Given the description of an element on the screen output the (x, y) to click on. 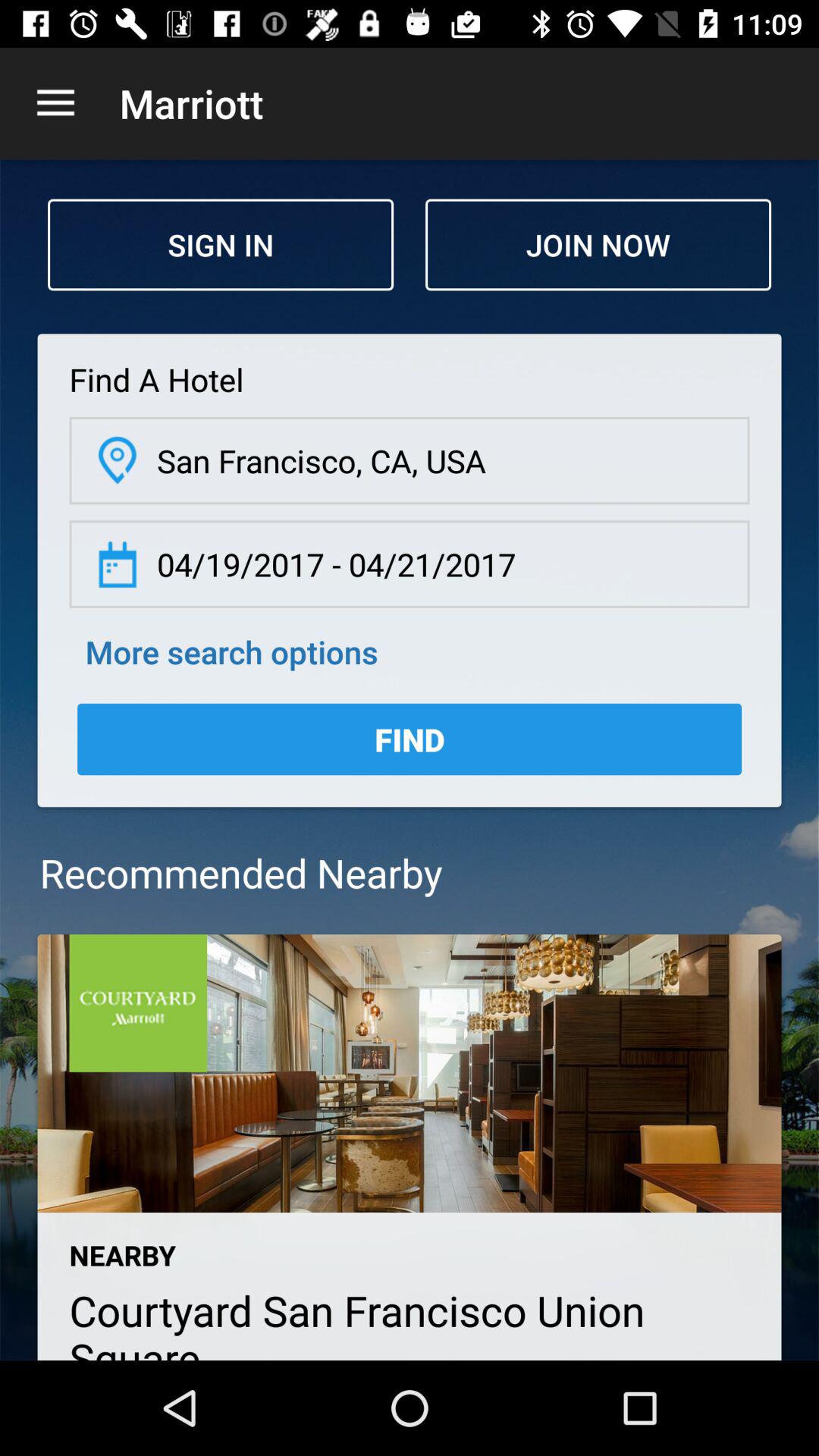
select sign in item (220, 244)
